Given the description of an element on the screen output the (x, y) to click on. 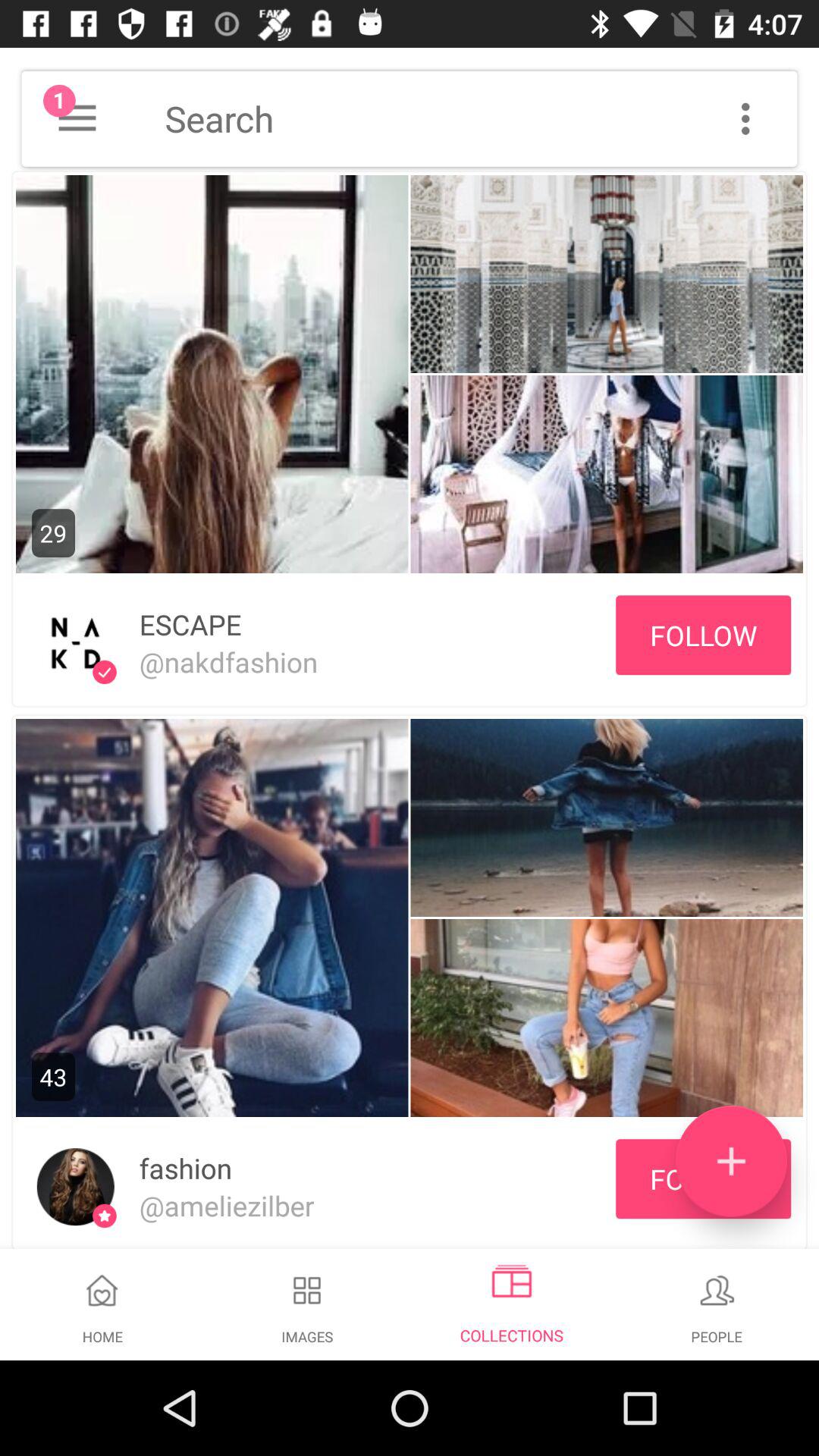
add/upload (731, 1161)
